Given the description of an element on the screen output the (x, y) to click on. 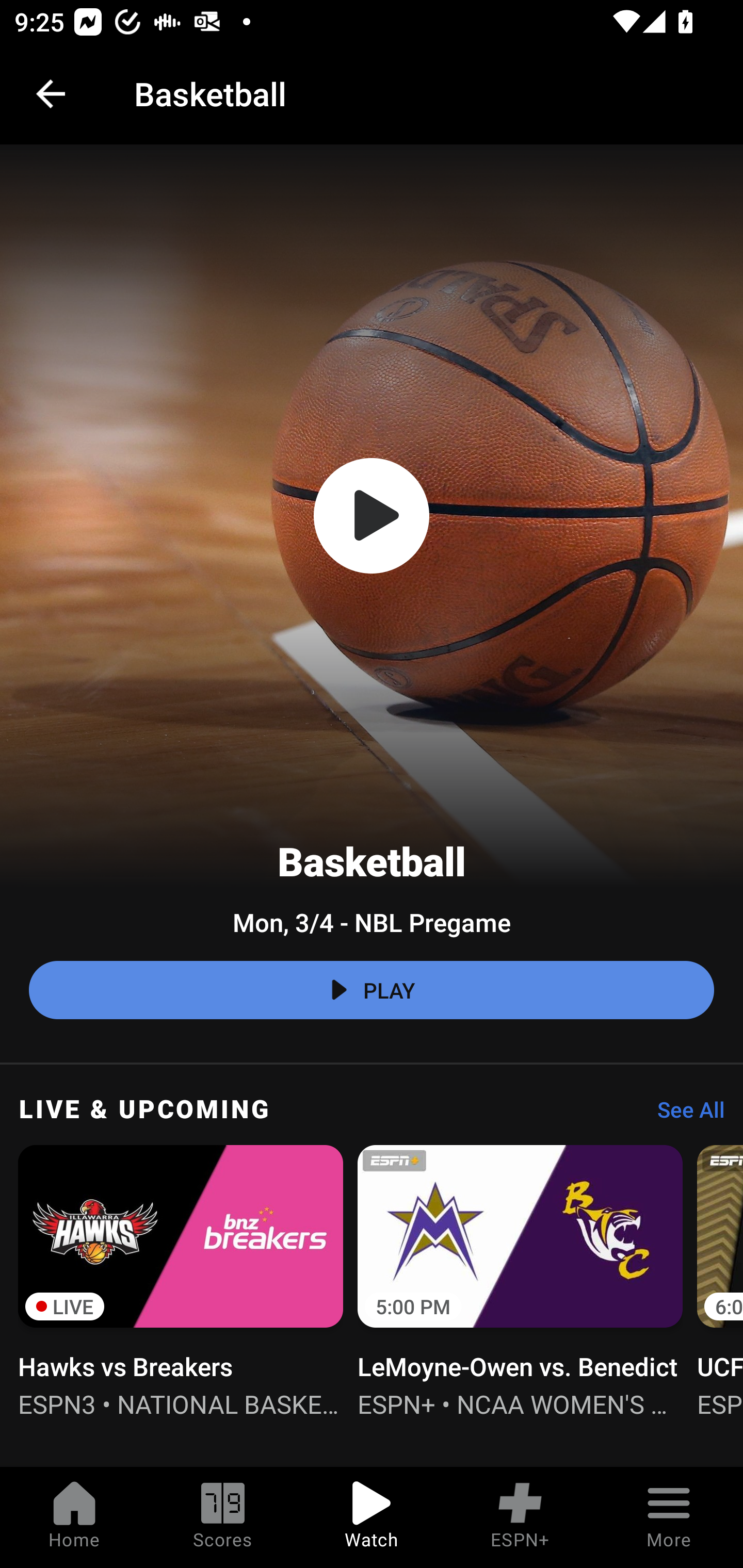
 (371, 515)
PLAY (371, 990)
See All (683, 1114)
Home (74, 1517)
Scores (222, 1517)
ESPN+ (519, 1517)
More (668, 1517)
